Given the description of an element on the screen output the (x, y) to click on. 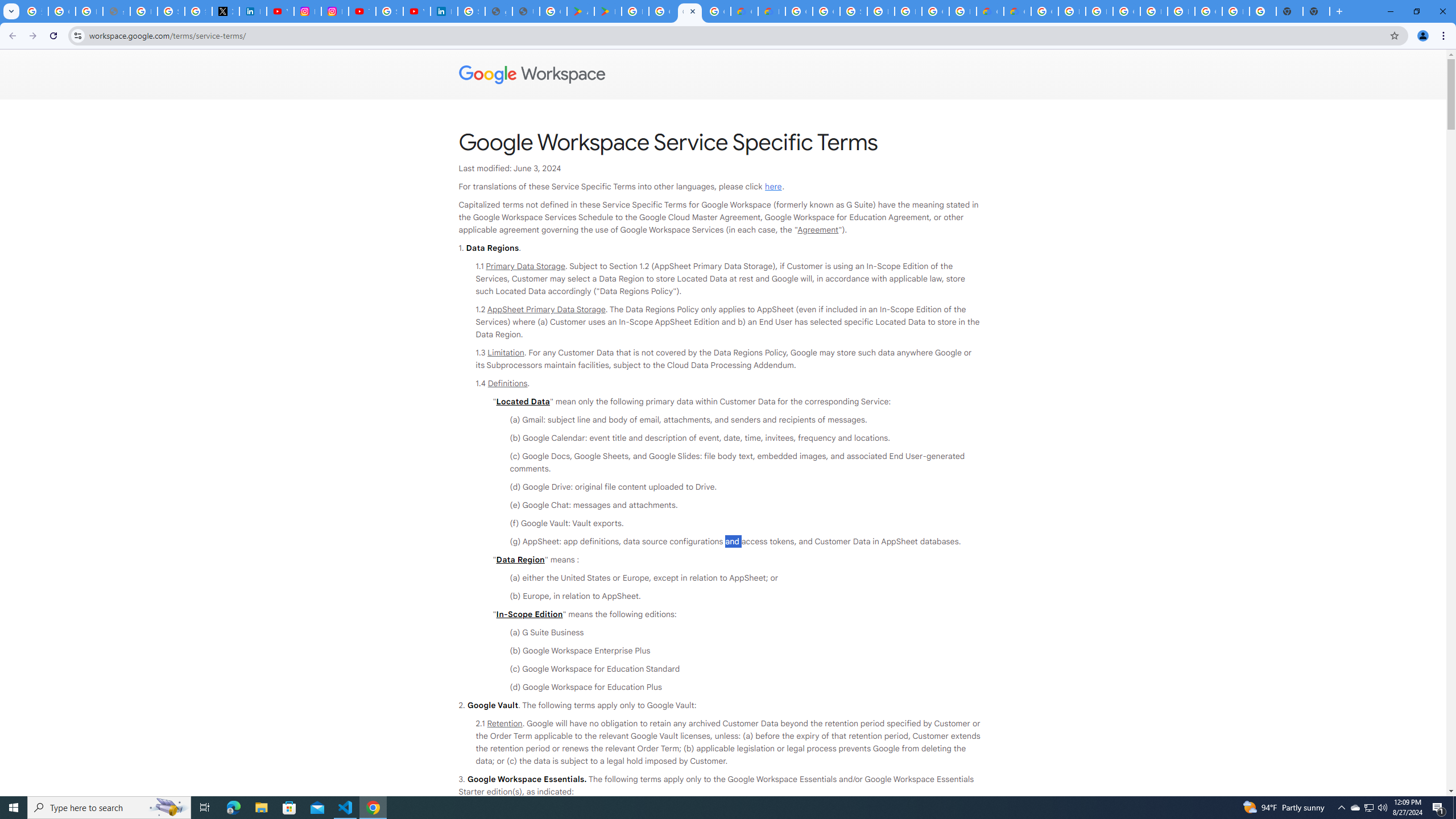
Browse Chrome as a guest - Computer - Google Chrome Help (1099, 11)
Google Workspace - Specific Terms (690, 11)
YouTube Content Monetization Policies - How YouTube Works (280, 11)
support.google.com - Network error (116, 11)
LinkedIn Privacy Policy (253, 11)
Google Cloud Platform (1126, 11)
google_privacy_policy_en.pdf (498, 11)
